Given the description of an element on the screen output the (x, y) to click on. 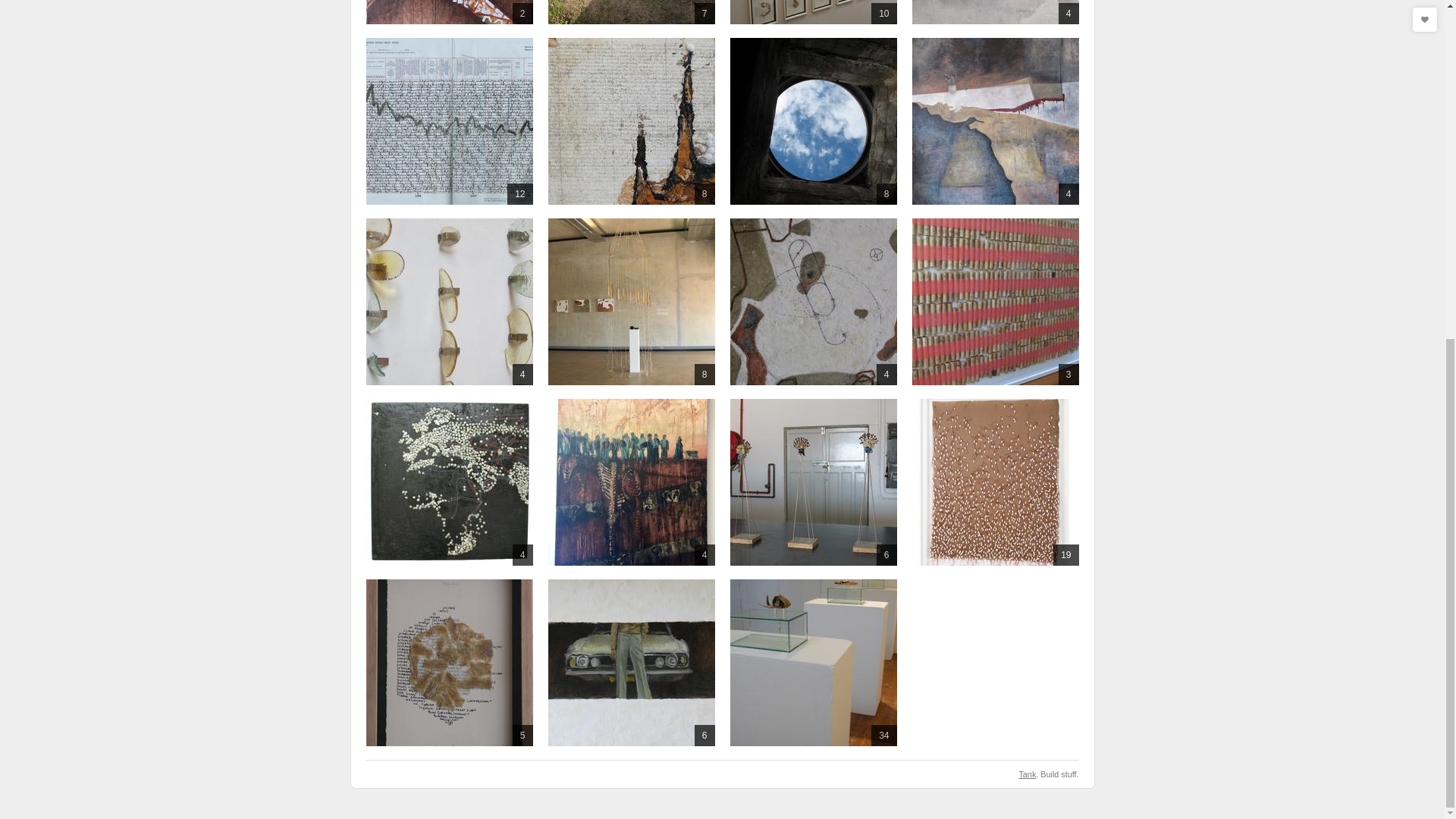
8 (630, 301)
10 (812, 12)
4 (448, 301)
447 (630, 481)
4 (812, 301)
Black Box  (448, 12)
View from the South (448, 481)
7 (630, 12)
Mother of All Firewalls (630, 120)
12 (448, 120)
Cape Town Under (812, 120)
2 (448, 12)
Word Launder (448, 120)
4 (448, 481)
6 (812, 481)
